Given the description of an element on the screen output the (x, y) to click on. 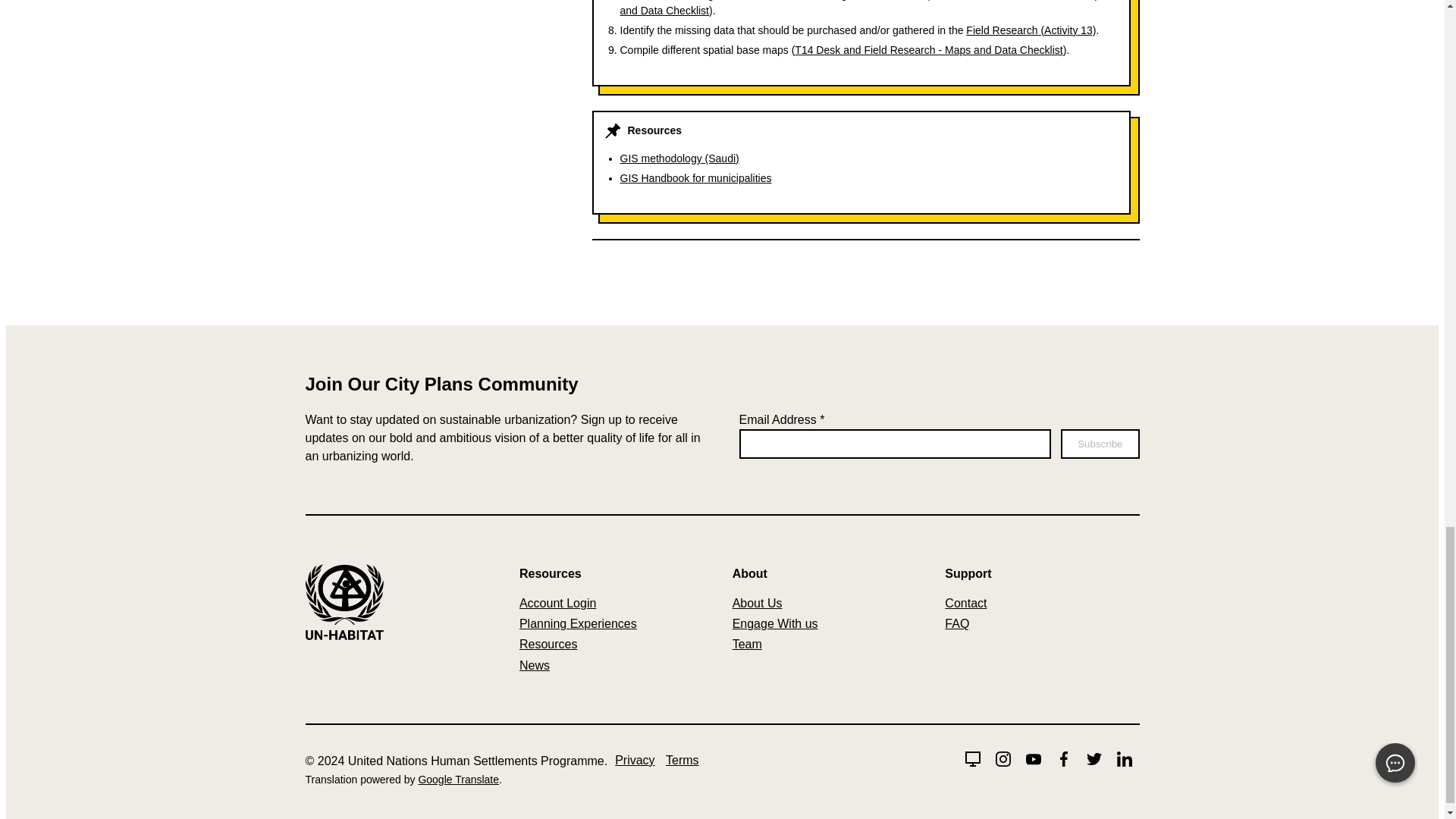
T14 (862, 8)
instagram (1002, 758)
Subscribe (1099, 443)
UN-Habitat (343, 635)
youtube (1033, 758)
T14 (928, 50)
UN-Habitat (971, 758)
